Given the description of an element on the screen output the (x, y) to click on. 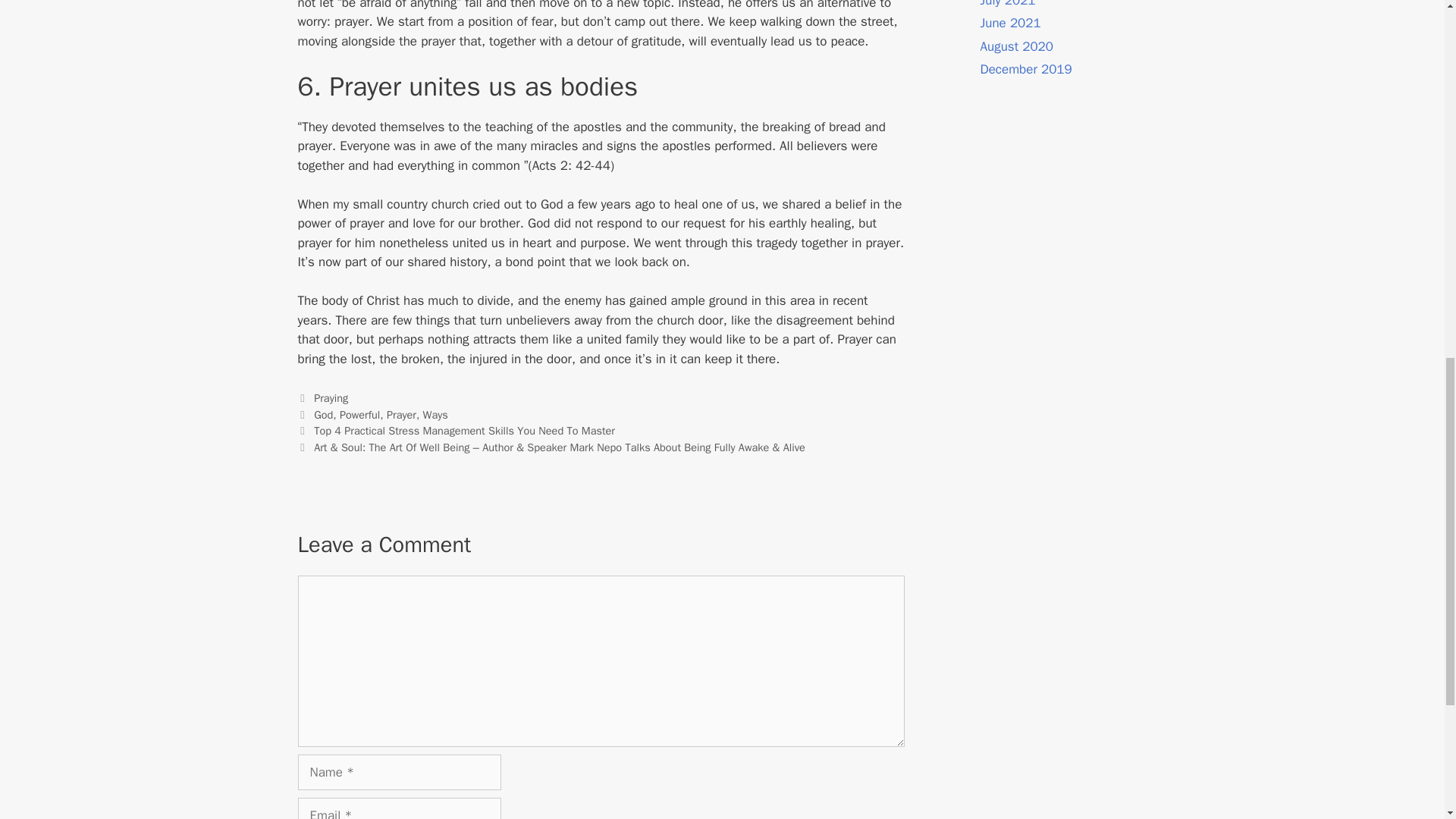
Previous (455, 430)
Powerful (359, 414)
Next (551, 447)
Top 4 Practical Stress Management Skills You Need To Master (464, 430)
Prayer (401, 414)
Ways (435, 414)
Praying (330, 397)
July 2021 (1007, 4)
God (323, 414)
